Given the description of an element on the screen output the (x, y) to click on. 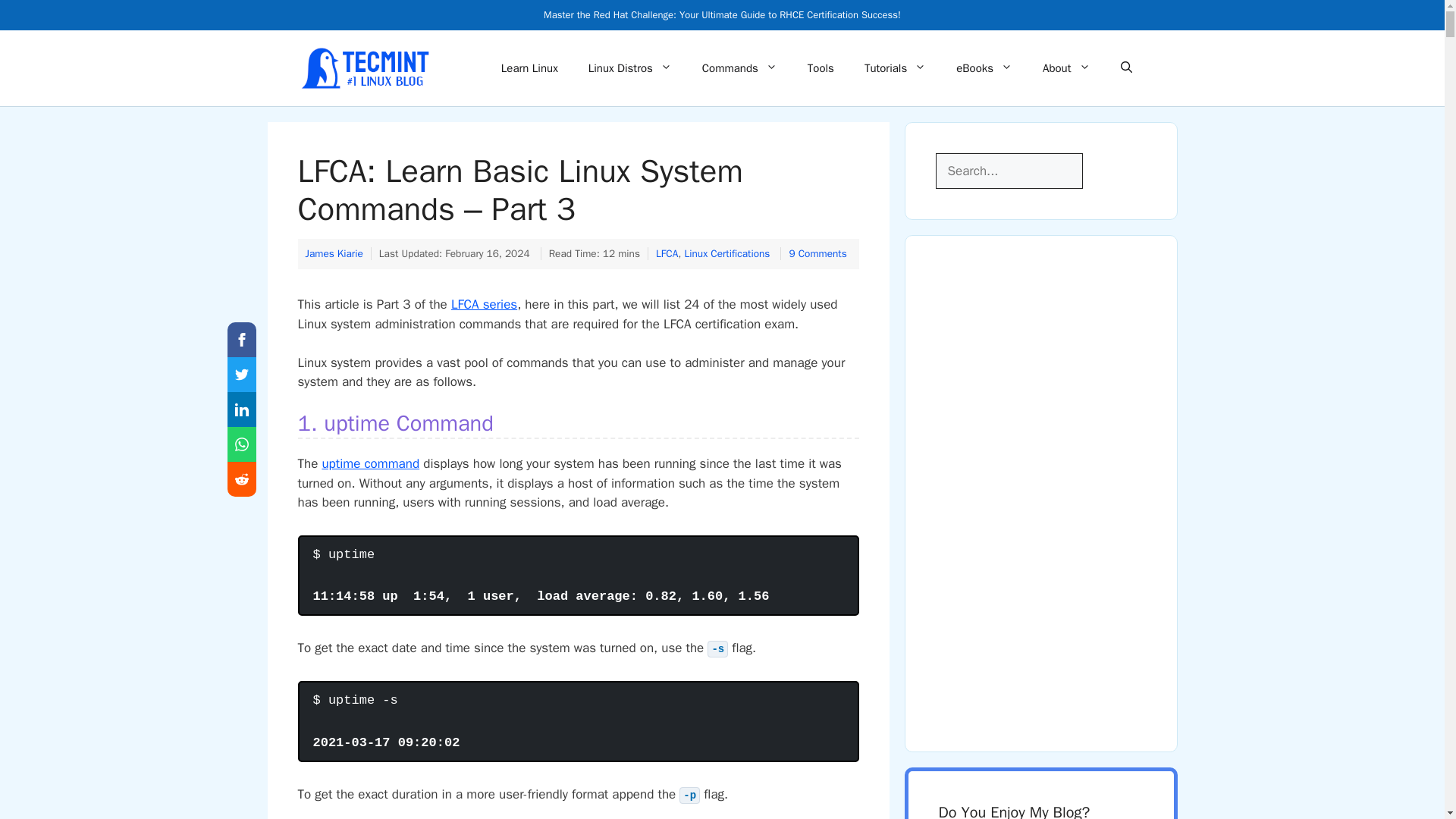
Start Learning Linux (529, 67)
Commands (739, 67)
Tutorials (894, 67)
Linux Distributions (630, 67)
Learn Linux (529, 67)
Tools (820, 67)
Linux Distros (630, 67)
